Given the description of an element on the screen output the (x, y) to click on. 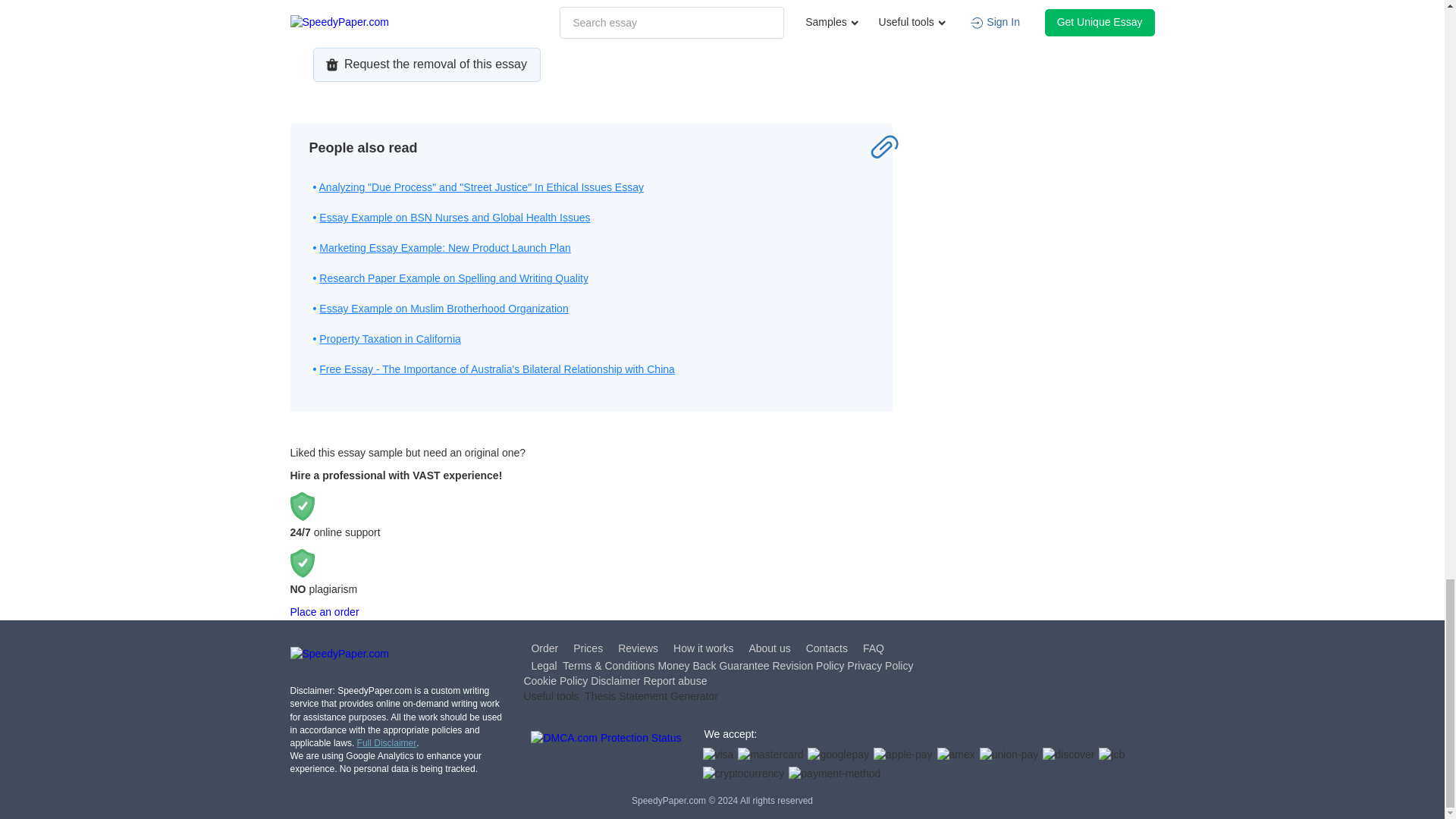
union-pay (1009, 754)
mastercard (770, 754)
DMCA.com Protection Status (606, 756)
jcb (1111, 754)
googlepay (838, 754)
discover (1068, 754)
visa (717, 754)
apple-pay (903, 754)
payment-method (834, 773)
amex (956, 754)
